Given the description of an element on the screen output the (x, y) to click on. 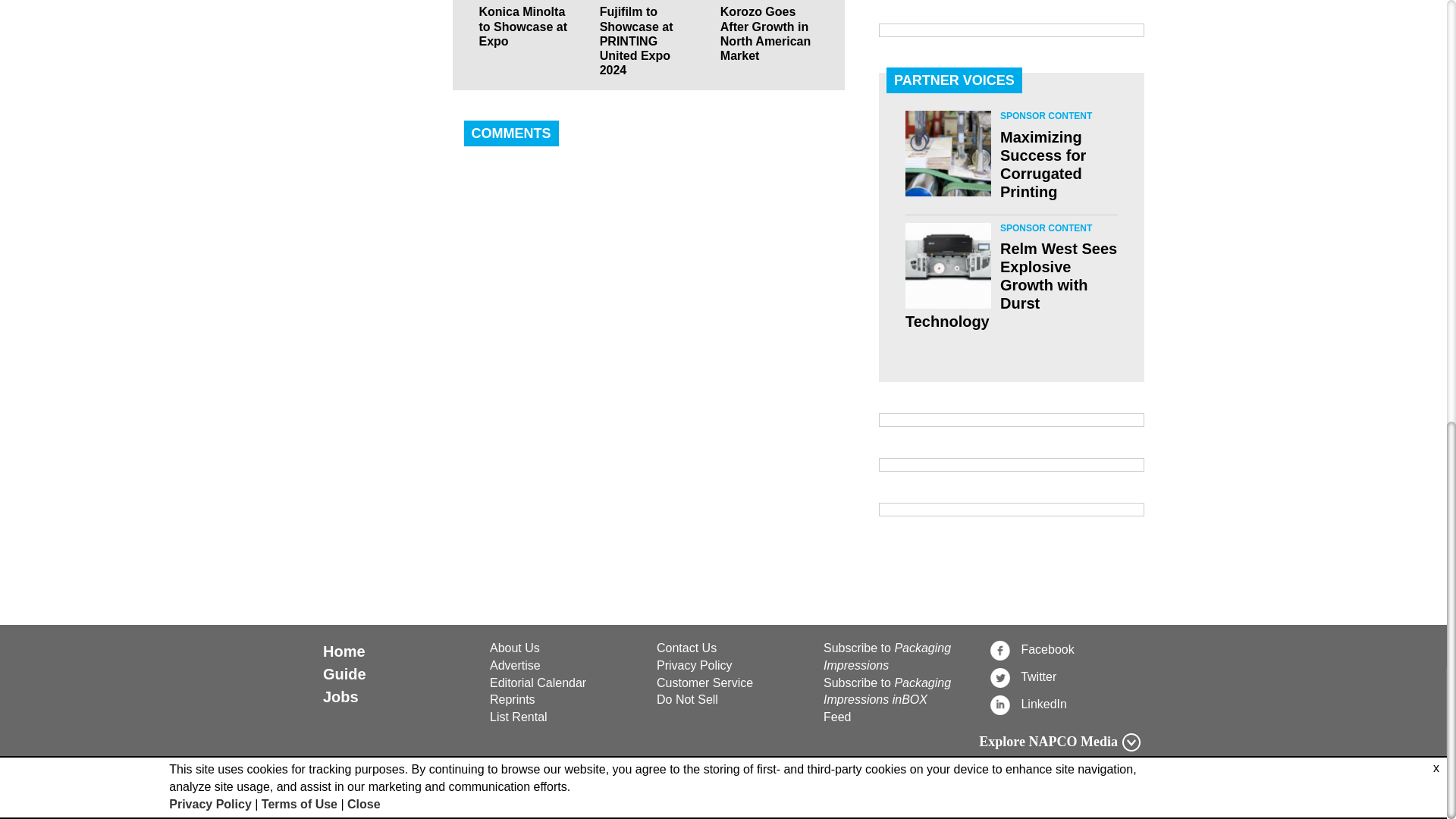
Opens in a new window (731, 683)
Opens in a new window (1065, 649)
Opens in a new window (1065, 677)
Opens in a new window (731, 665)
Opens in a new window (731, 700)
Opens in a new window (1065, 704)
